Given the description of an element on the screen output the (x, y) to click on. 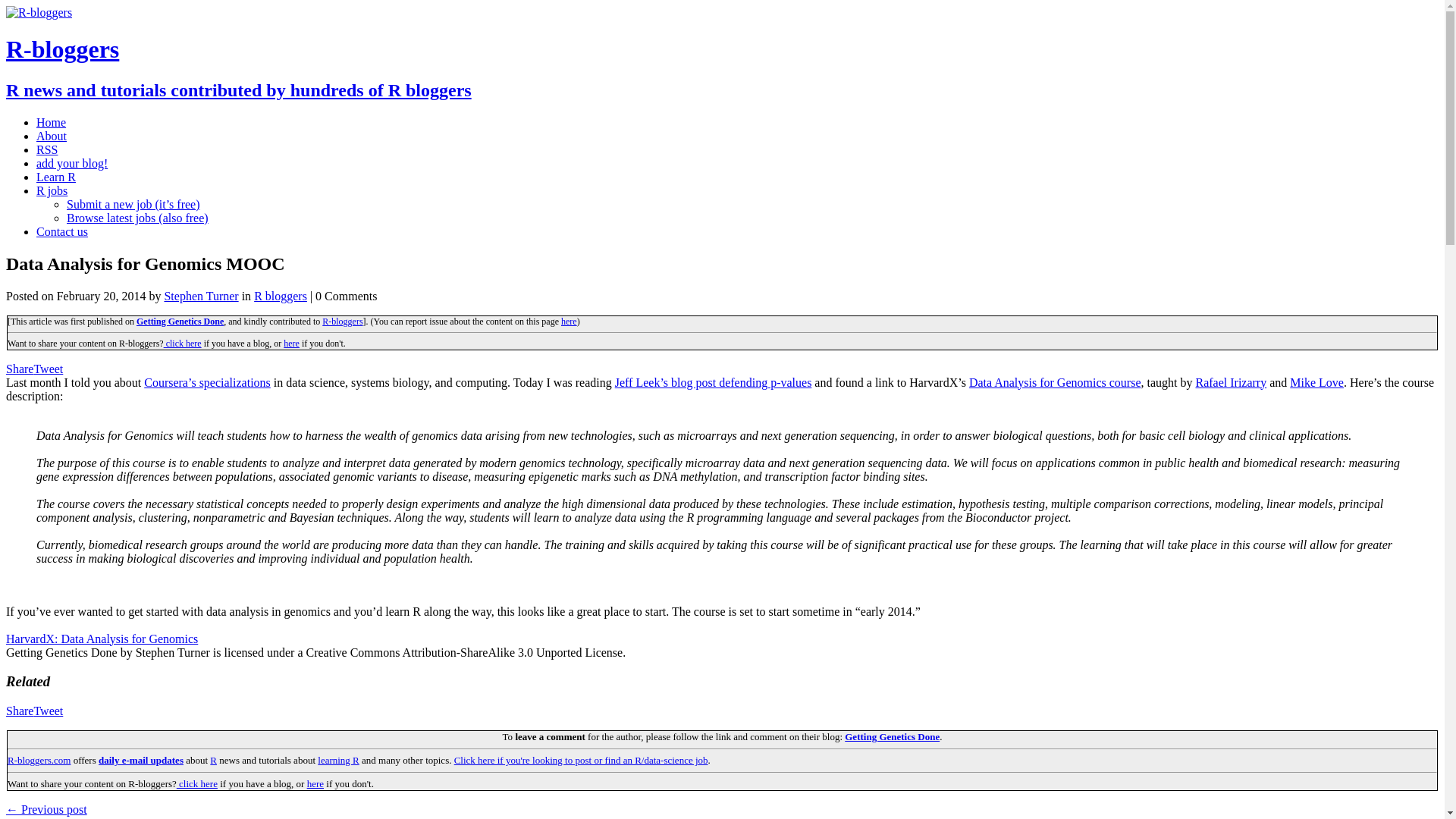
HarvardX: Data Analysis for Genomics (101, 638)
learning R (338, 759)
R jobs (51, 190)
R tutorials (338, 759)
Stephen Turner (200, 295)
Tweet (47, 710)
R-bloggers.com (38, 759)
Tweet (47, 368)
Learn R (55, 176)
About (51, 135)
Share (19, 710)
Data science jobs (580, 759)
here (315, 783)
Share (19, 368)
here (568, 321)
